Given the description of an element on the screen output the (x, y) to click on. 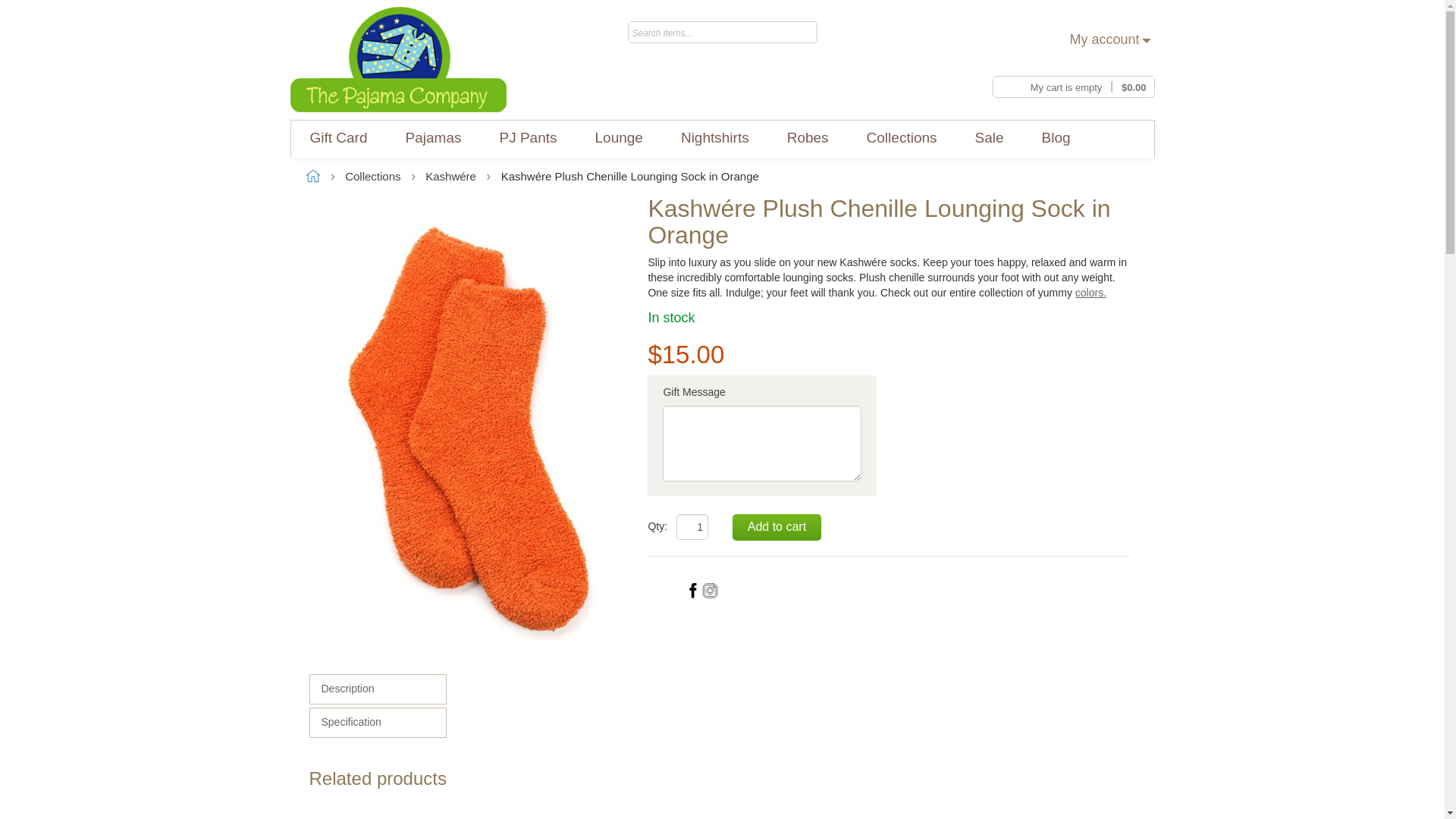
Your cart (1072, 83)
Instagram A line styled icon from Orion Icon Library. (709, 590)
Quantity (692, 526)
1 (692, 526)
Home (397, 59)
